Given the description of an element on the screen output the (x, y) to click on. 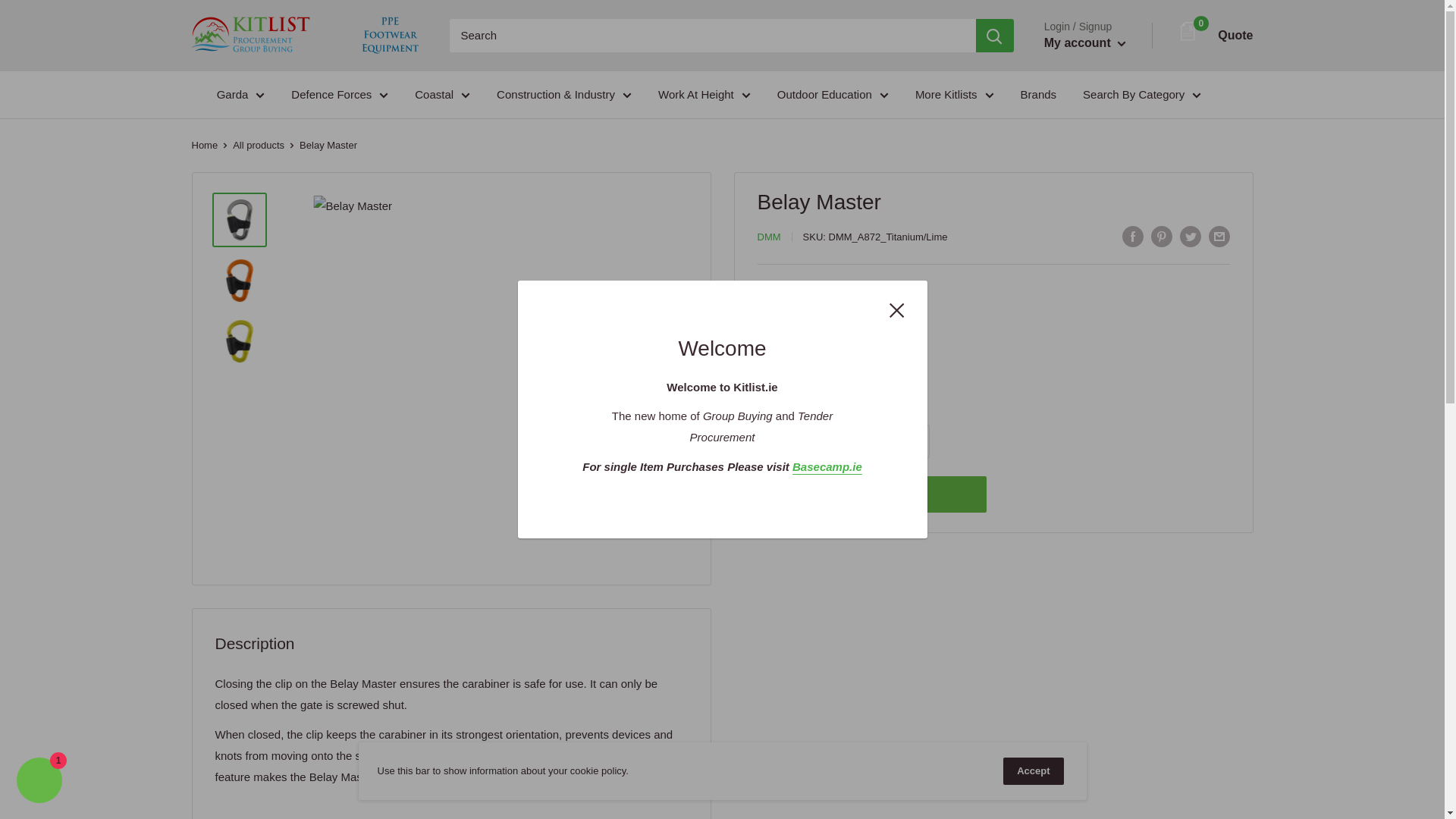
Shopify online store chat (38, 781)
Created by potrace 1.16, written by Peter Selinger 2001-2019 (1187, 31)
Orange (894, 333)
Lime (838, 333)
Basecamp.ie (826, 466)
Decrease quantity by 1 (832, 441)
1 (872, 441)
Increase quantity by 1 (912, 441)
